Given the description of an element on the screen output the (x, y) to click on. 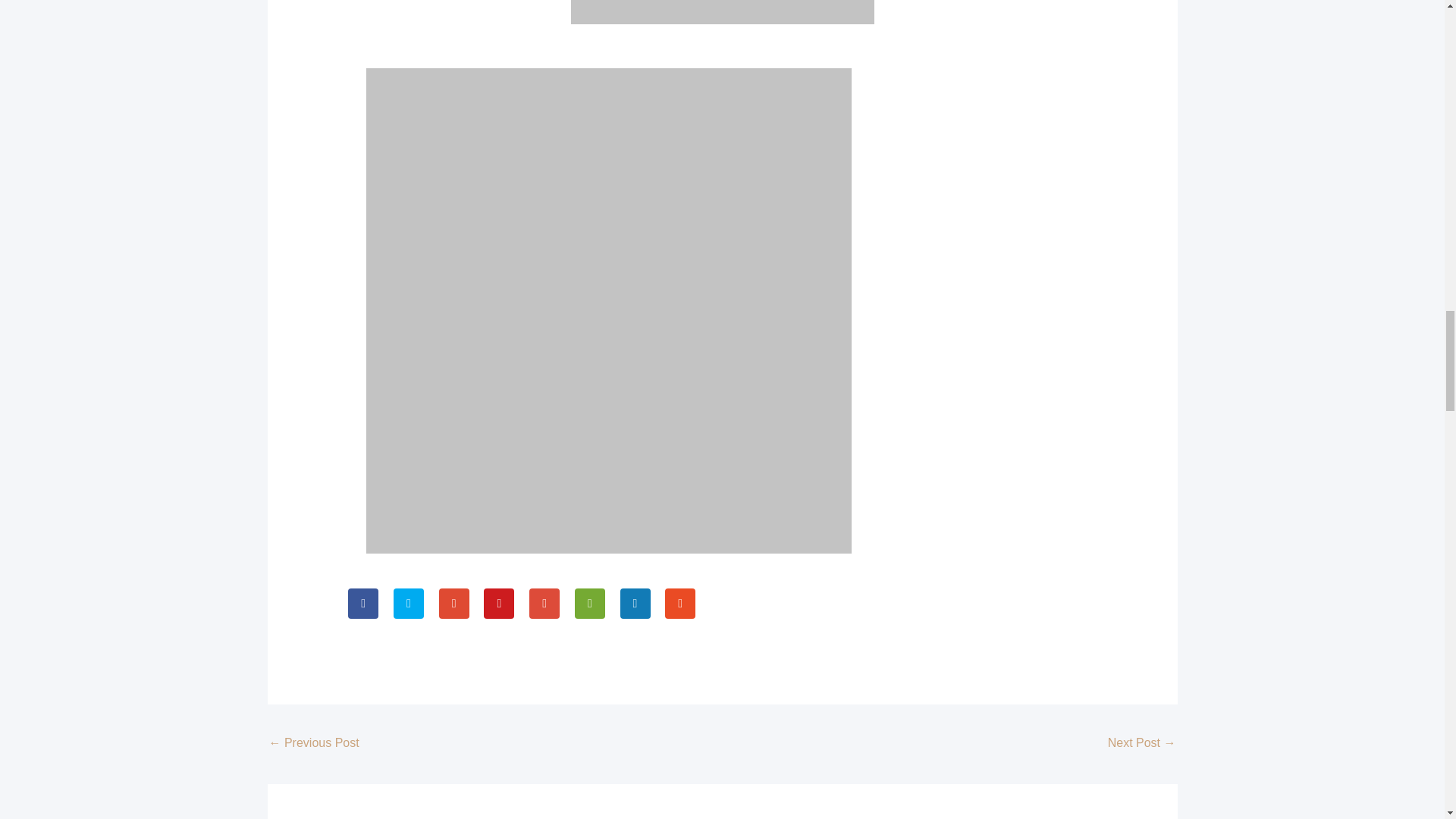
We Are Stardust, We Are Golden (1142, 744)
Trajectory (312, 744)
